Given the description of an element on the screen output the (x, y) to click on. 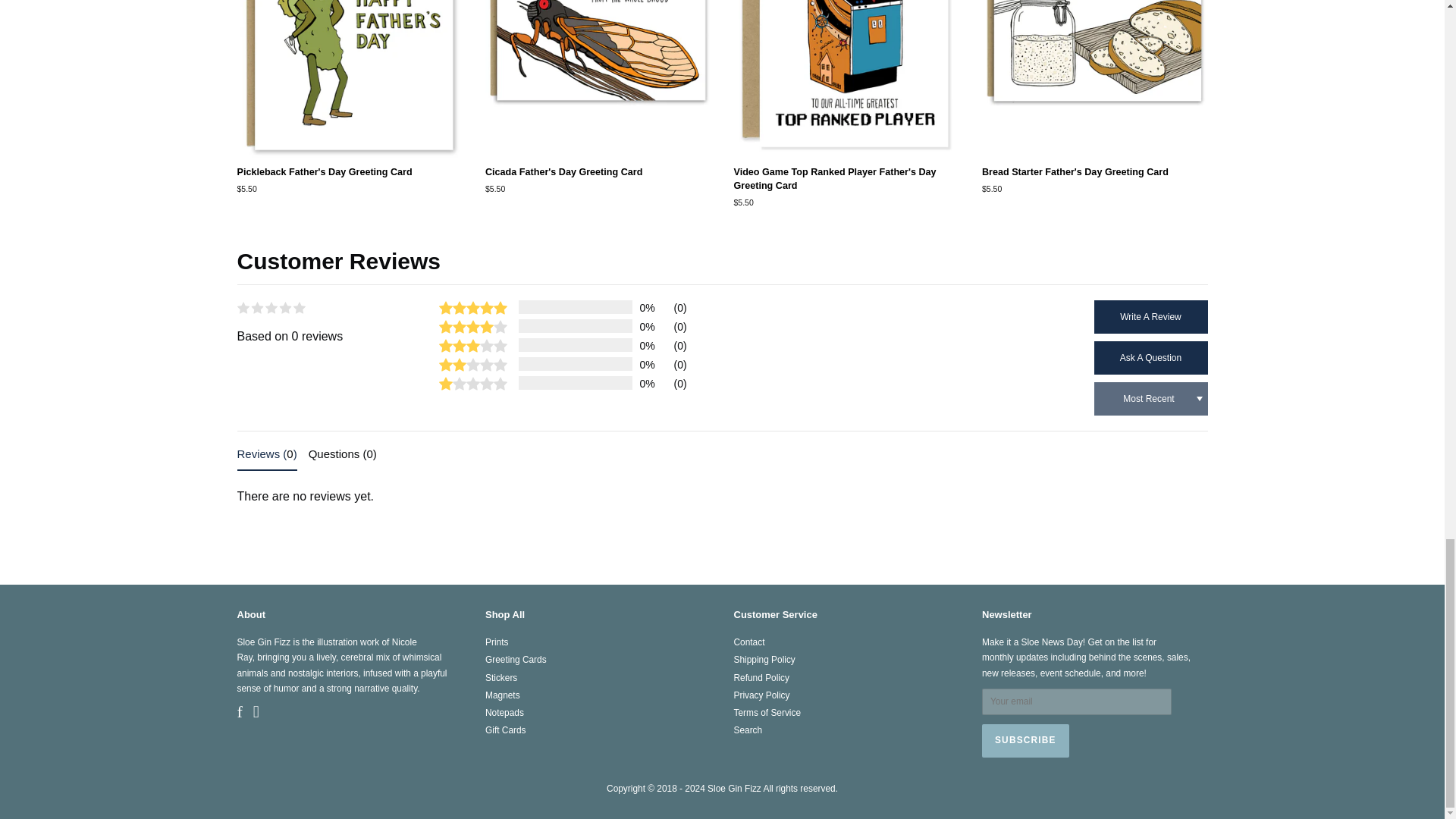
Subscribe (1024, 740)
Sloe Gin Fizz on Instagram (256, 714)
Sloe Gin Fizz on Facebook (238, 714)
